Given the description of an element on the screen output the (x, y) to click on. 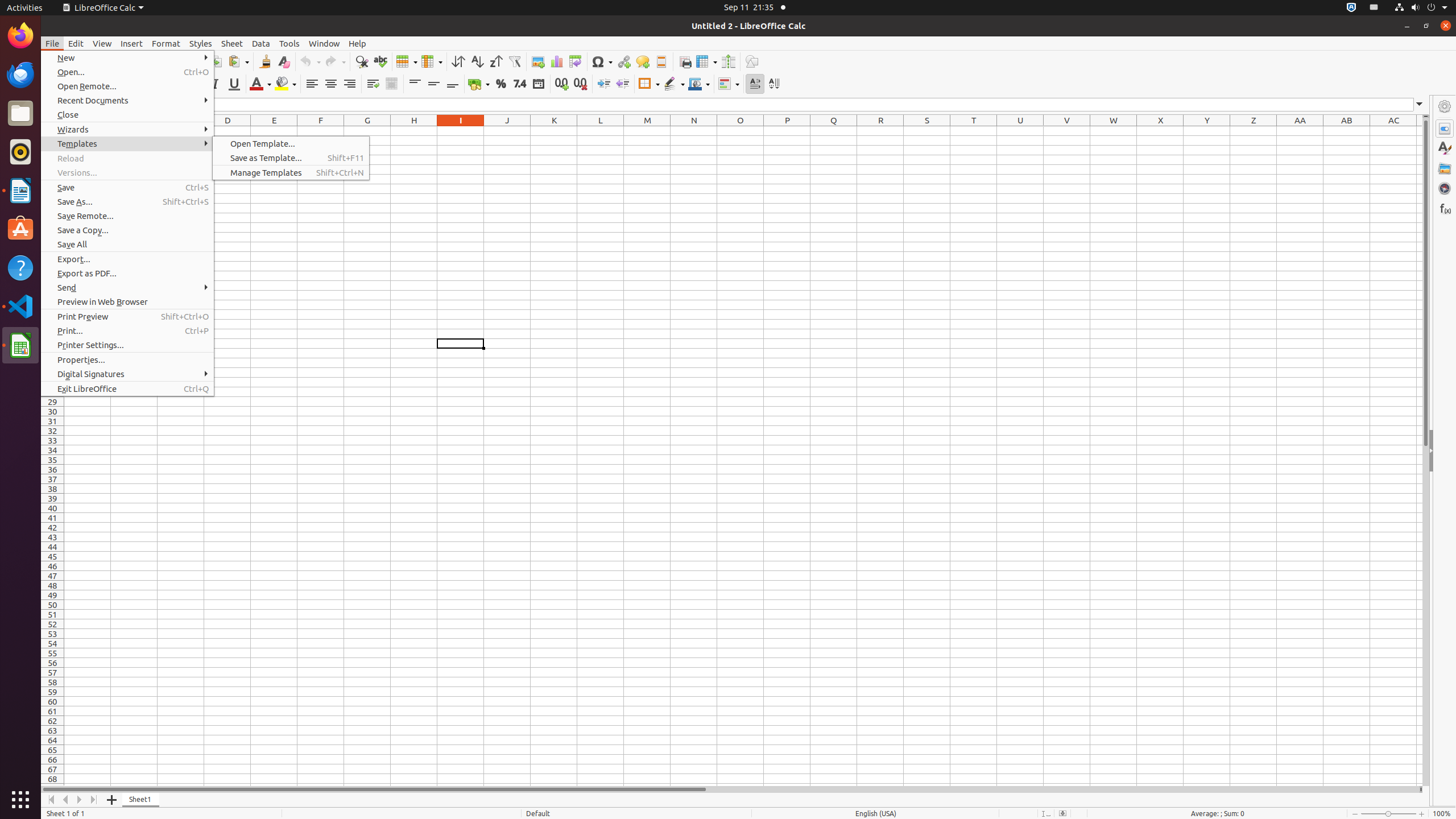
Paste Element type: push-button (237, 61)
H1 Element type: table-cell (413, 130)
